Given the description of an element on the screen output the (x, y) to click on. 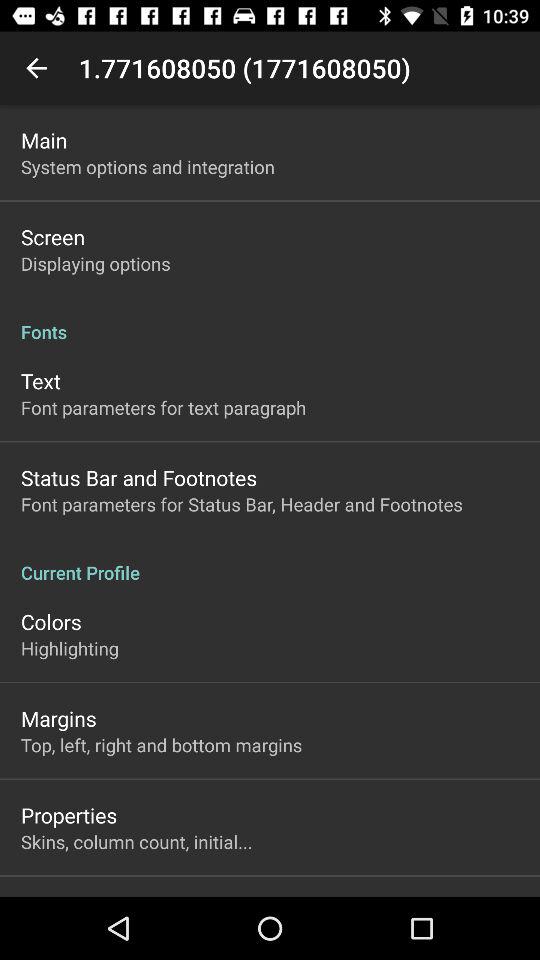
launch the icon above the properties icon (161, 744)
